Given the description of an element on the screen output the (x, y) to click on. 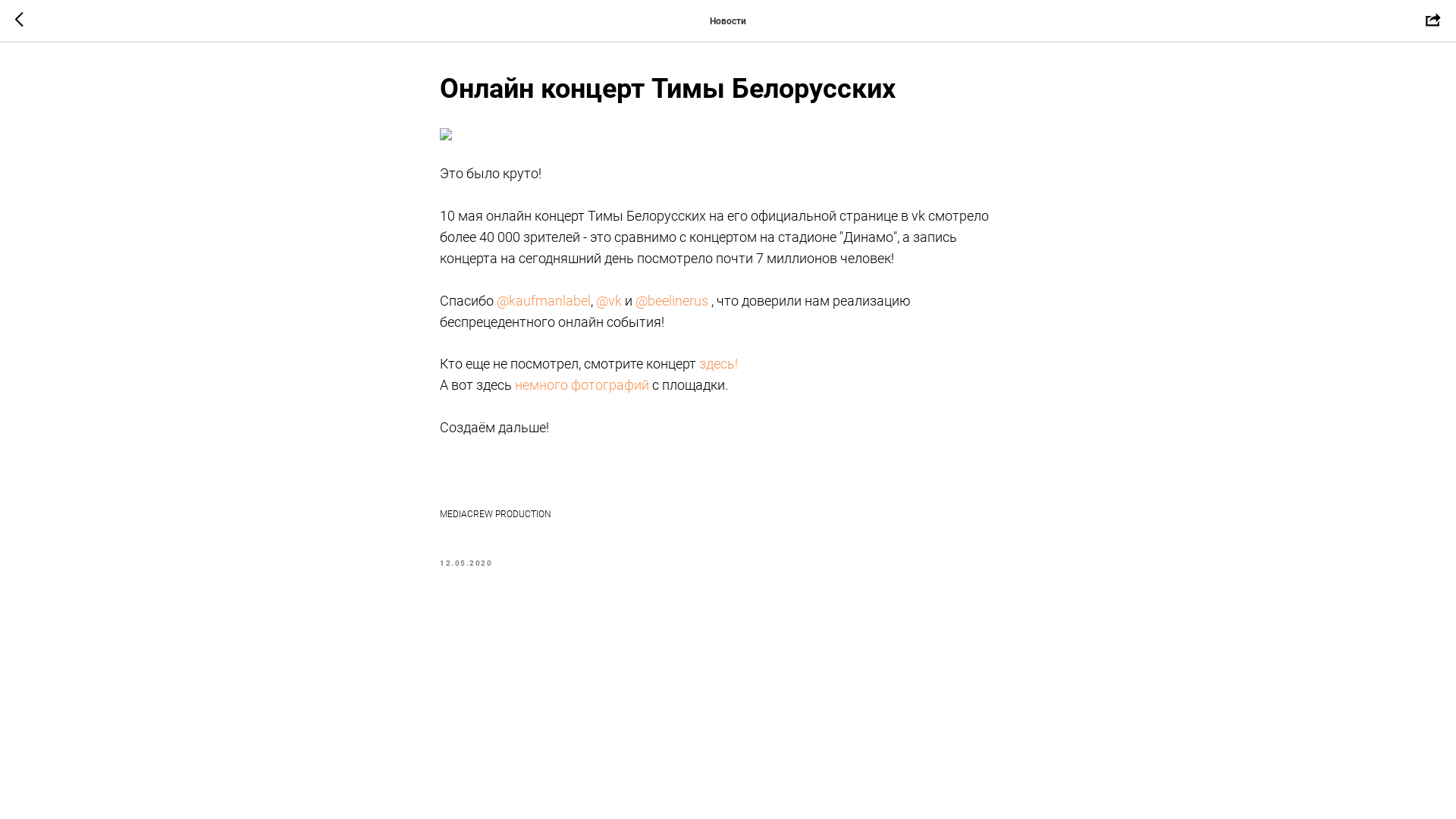
@beelinerus Element type: text (671, 300)
@kaufmanlabel Element type: text (543, 300)
@vk Element type: text (608, 300)
MEDIACREW PRODUCTION Element type: text (727, 514)
